Given the description of an element on the screen output the (x, y) to click on. 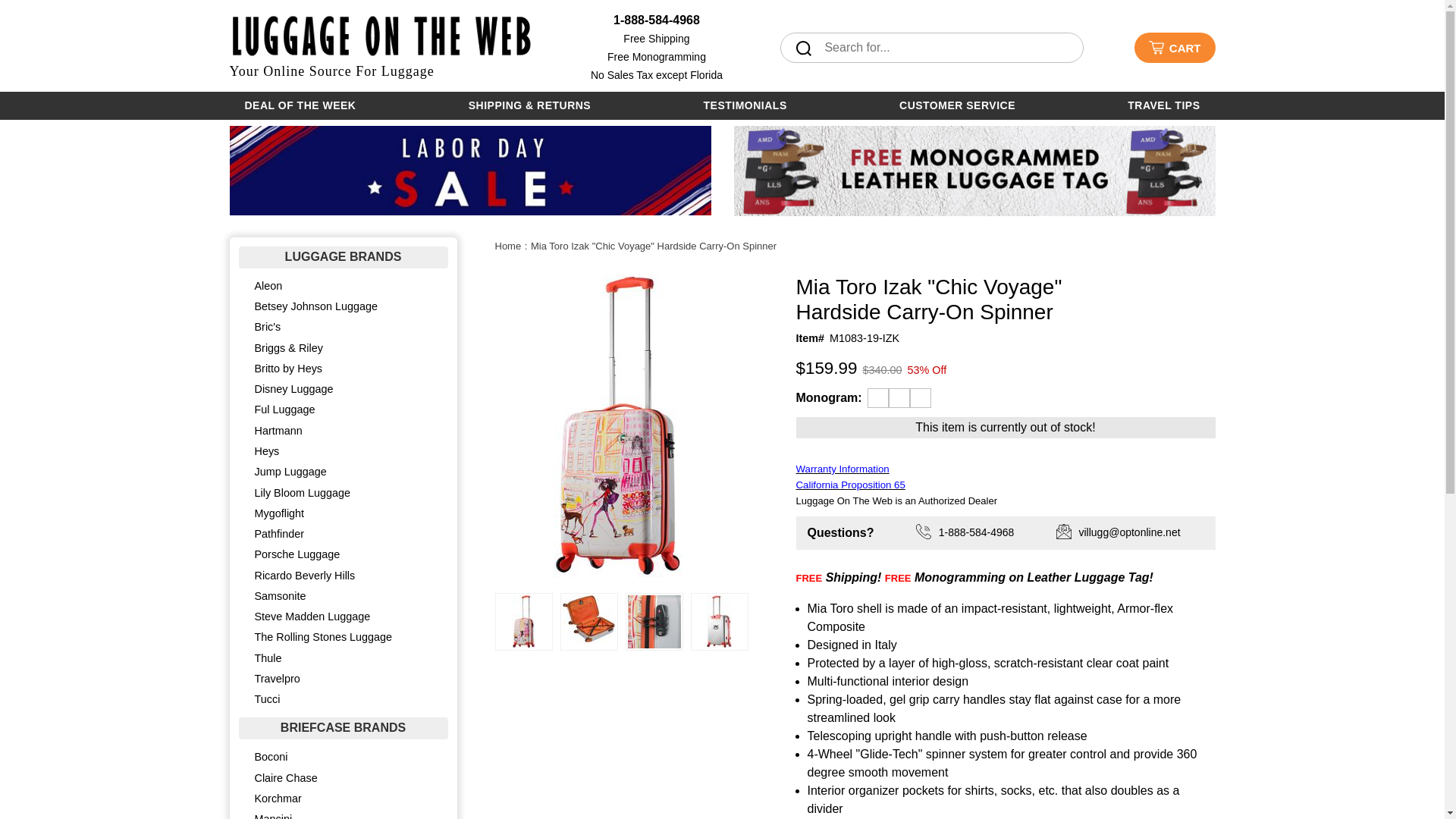
TRAVEL TIPS (1163, 105)
Ricardo Beverly Hills (342, 575)
1-888-584-4968 (998, 532)
California Proposition 65 (850, 483)
Samsonite (342, 596)
Mygoflight (342, 513)
Ful Luggage (342, 409)
Home (508, 245)
Lily Bloom Luggage (342, 493)
1-888-584-4968 (656, 20)
